Given the description of an element on the screen output the (x, y) to click on. 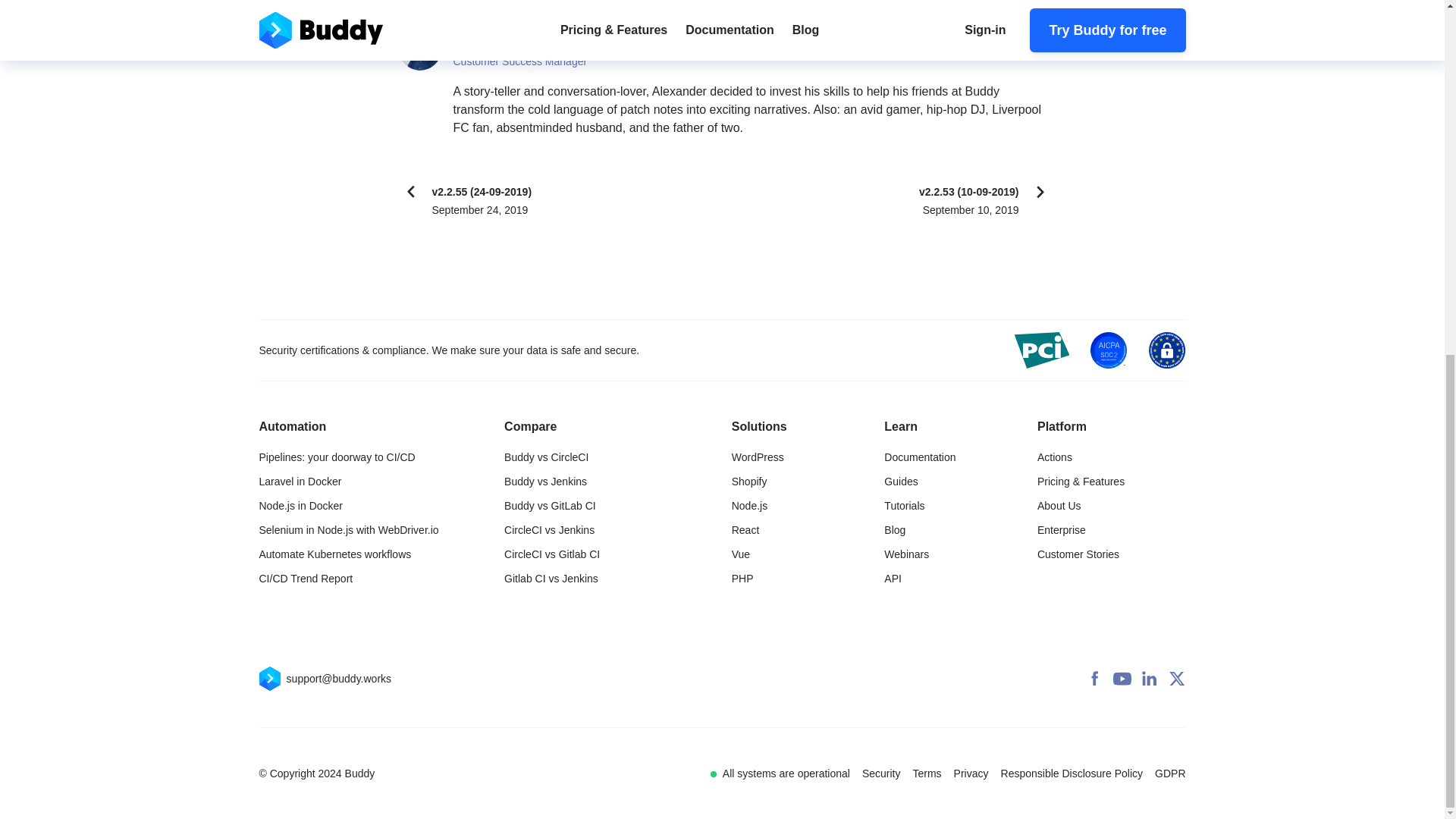
Shopify (749, 481)
PHP (743, 577)
Buddy vs GitLab CI (549, 504)
Blog (894, 529)
CircleCI vs Jenkins (548, 529)
CircleCI vs Gitlab CI (551, 553)
React (746, 529)
Tutorials (903, 504)
WordPress (758, 456)
Documentation (919, 456)
